Given the description of an element on the screen output the (x, y) to click on. 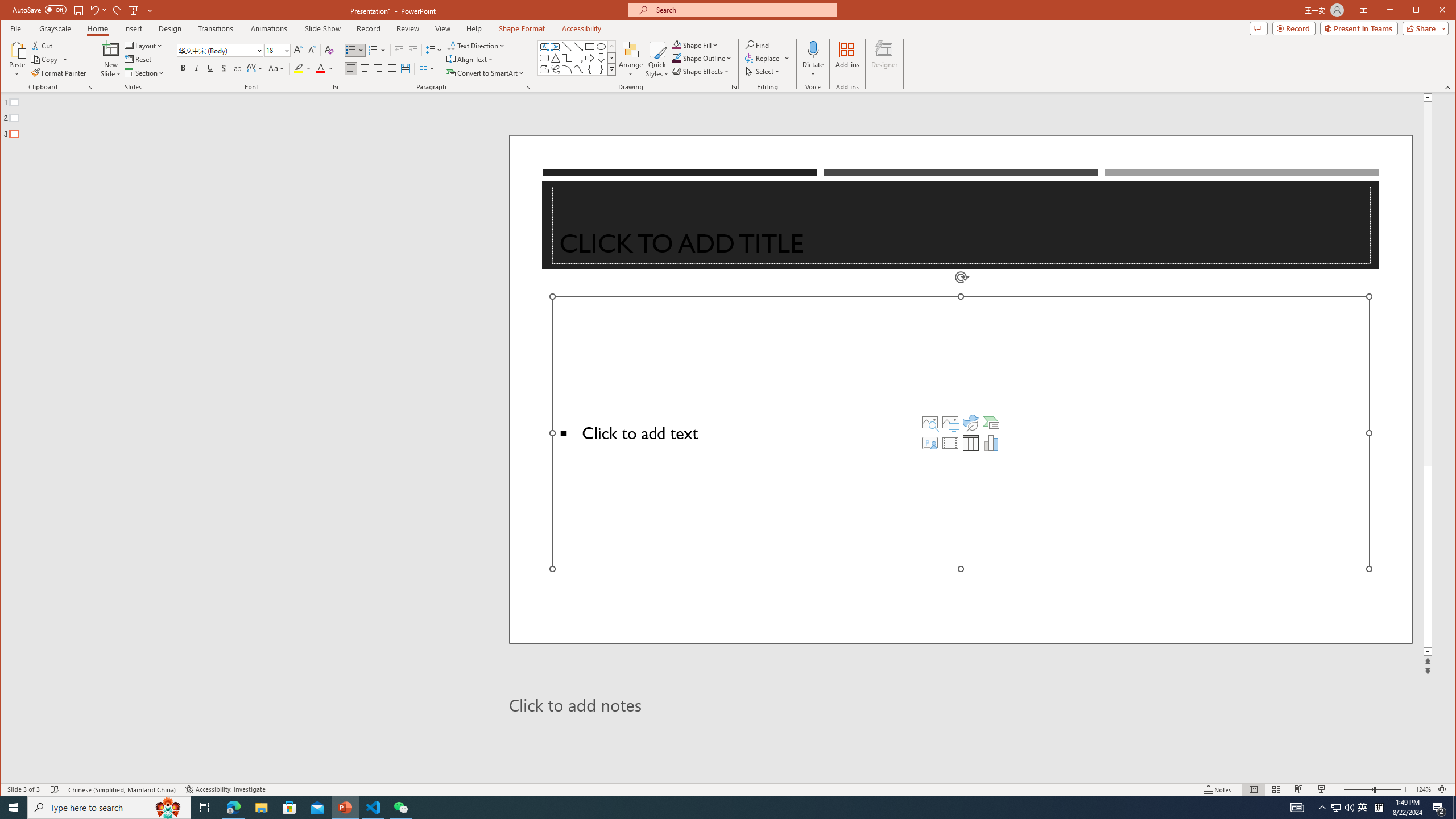
Insert Cameo (929, 443)
